Given the description of an element on the screen output the (x, y) to click on. 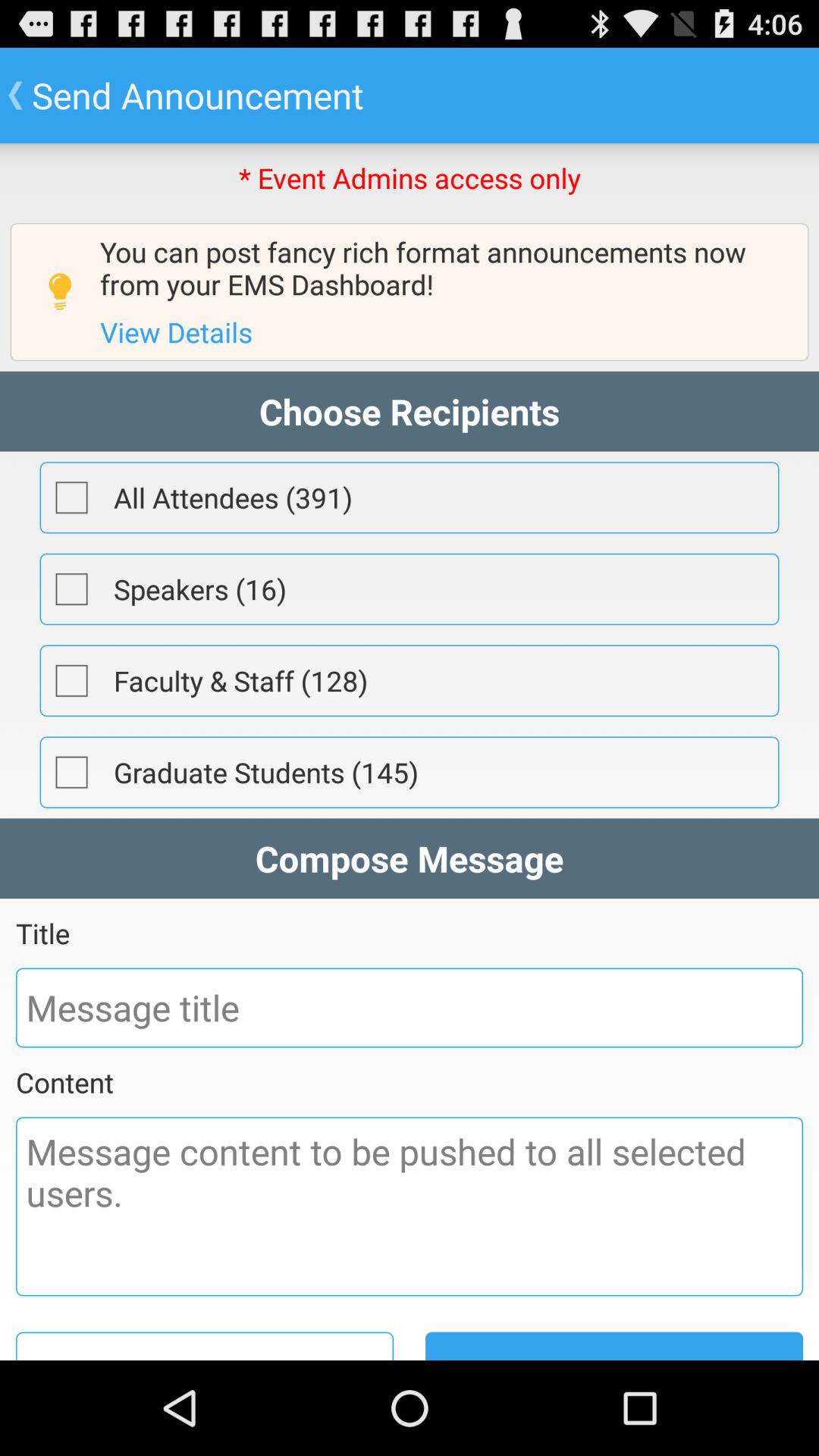
toggle speakers (71, 589)
